Given the description of an element on the screen output the (x, y) to click on. 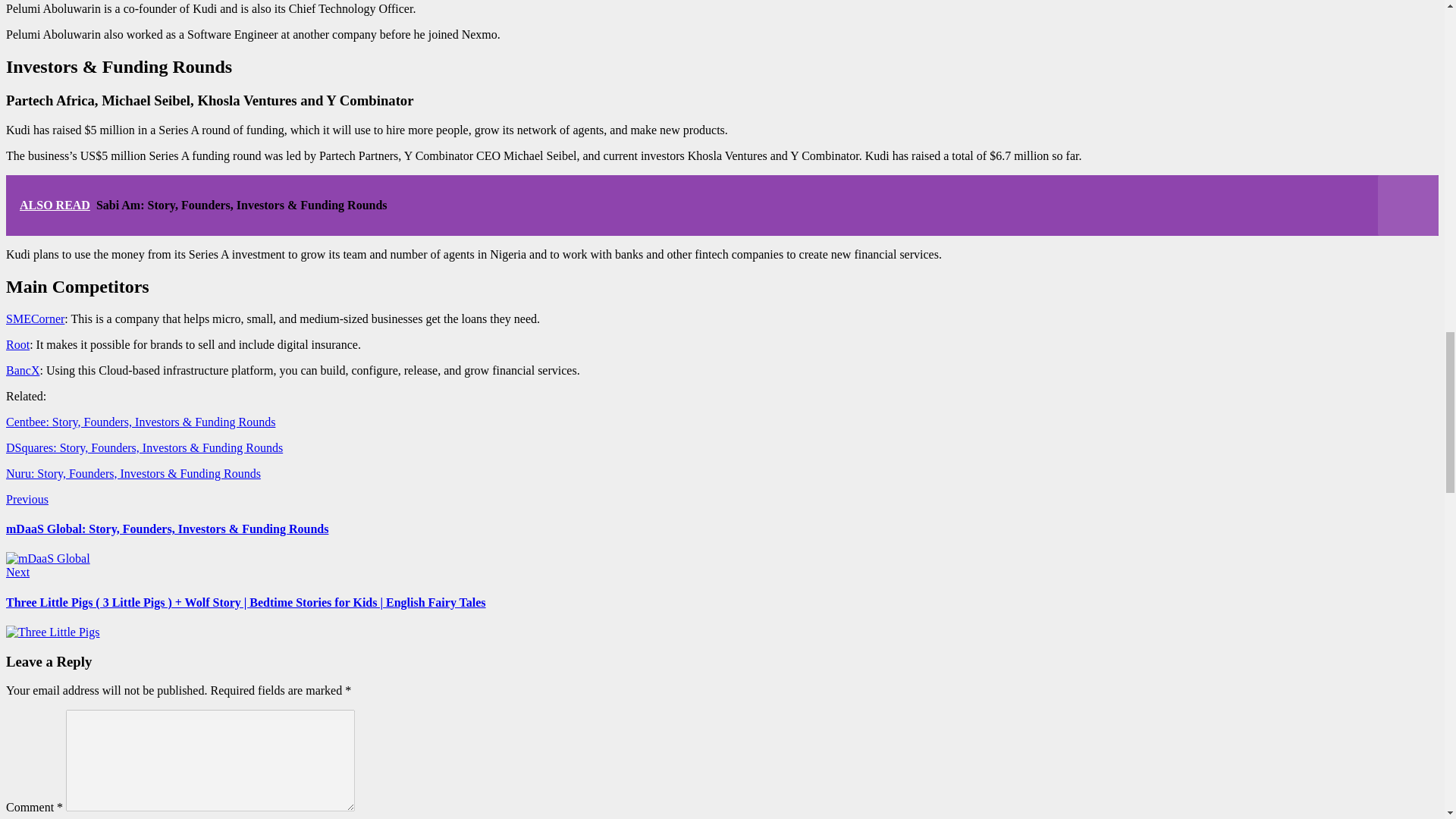
SMECorner (34, 318)
BancX (22, 369)
Root (17, 344)
